Given the description of an element on the screen output the (x, y) to click on. 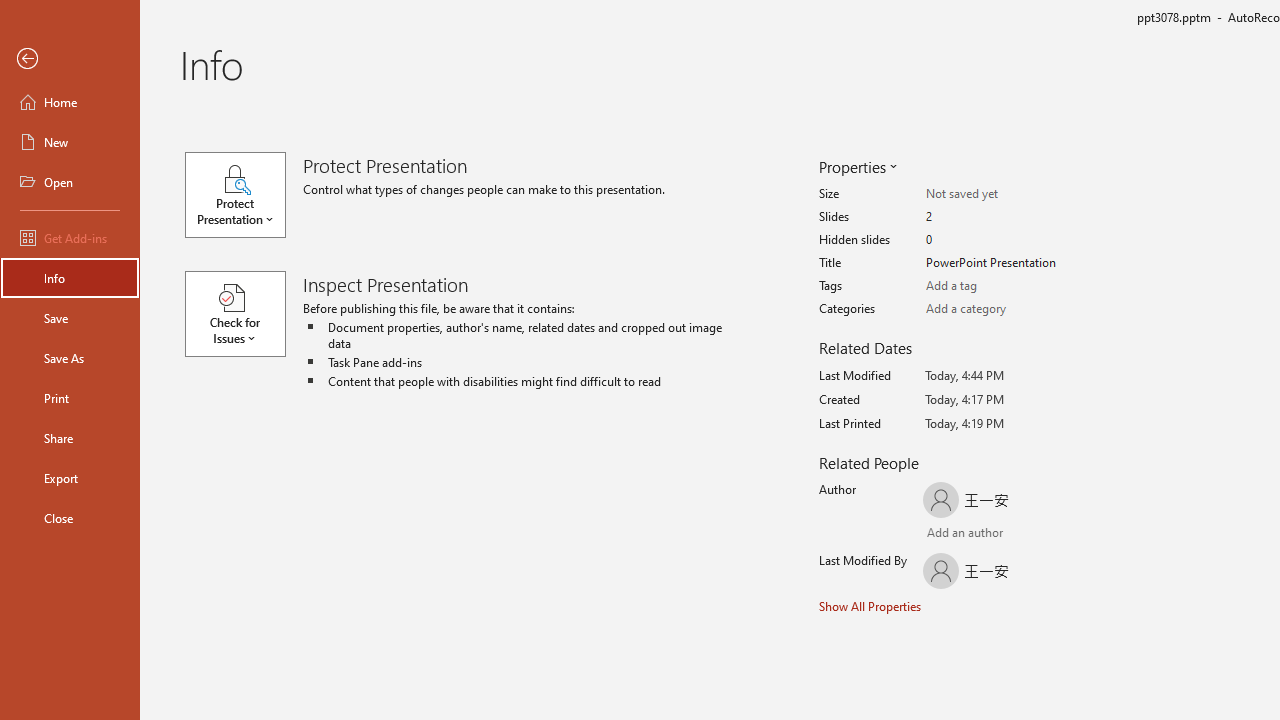
Back (69, 59)
Hidden slides (1003, 240)
Protect Presentation (244, 194)
Title (1003, 263)
Print (69, 398)
Size (1003, 194)
Add an author (946, 534)
Info (69, 277)
New (69, 141)
Save As (69, 357)
Tags (1003, 286)
Properties (856, 166)
Export (69, 477)
